Given the description of an element on the screen output the (x, y) to click on. 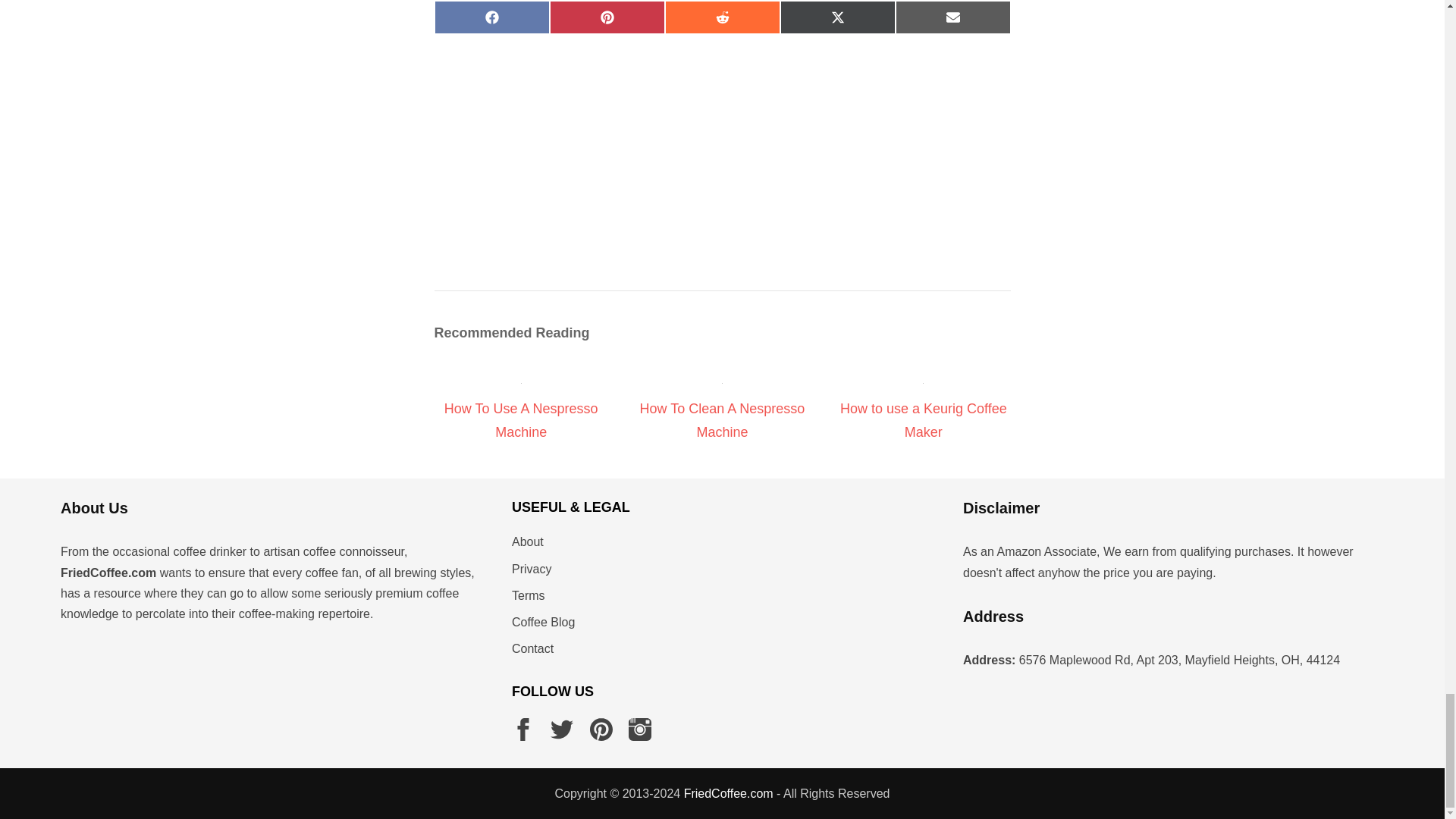
Friedcoffee page at Facebook. (523, 729)
Friedcoffee.com (728, 793)
Friedcoffee at Pinterest. (600, 729)
Friedcoffee at Twitter. (561, 729)
Our Instagram Page. (639, 729)
